Given the description of an element on the screen output the (x, y) to click on. 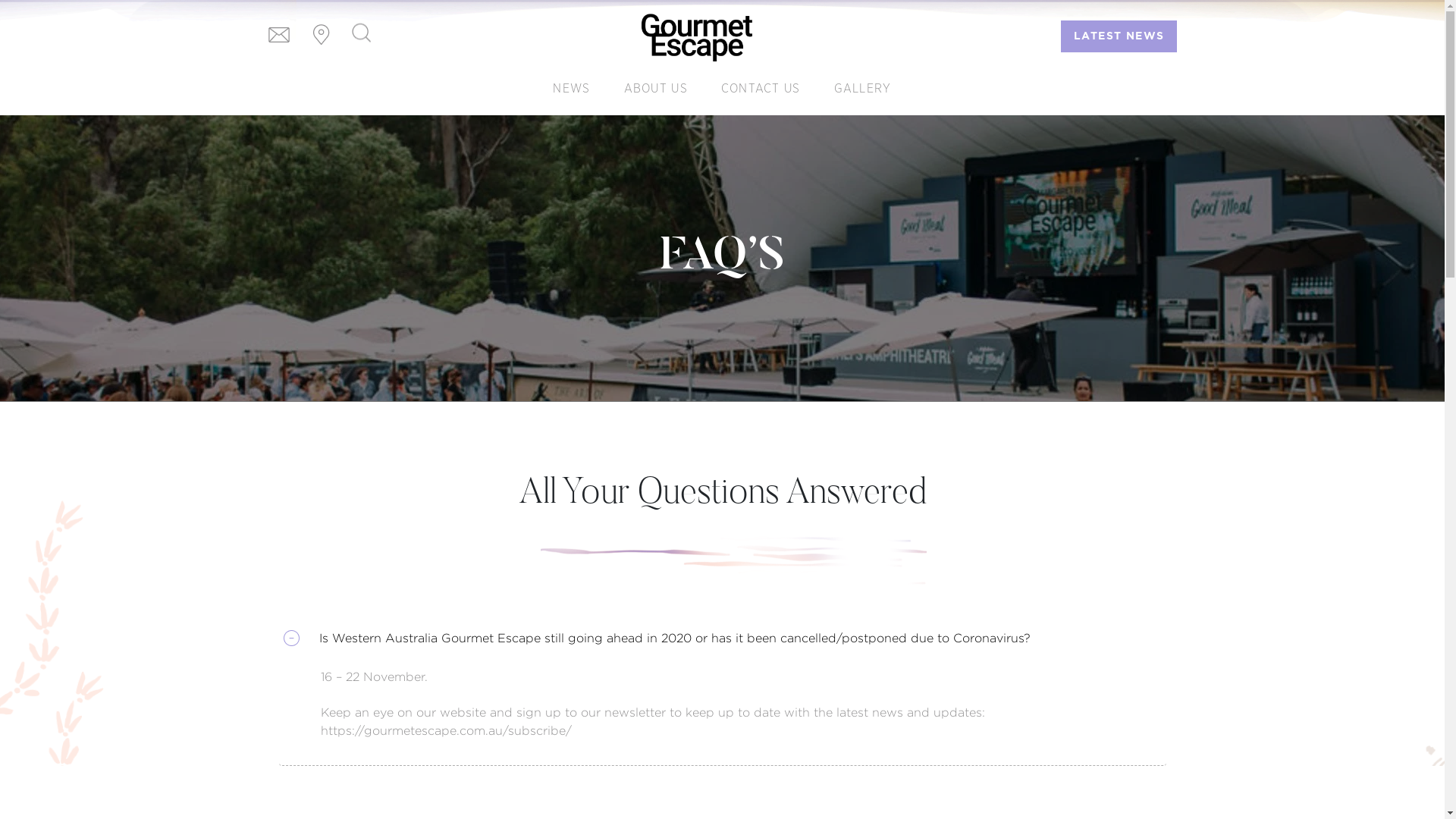
NEWS Element type: text (571, 88)
GALLERY Element type: text (862, 88)
LATEST NEWS Element type: text (1118, 36)
CONTACT US Element type: text (760, 88)
ABOUT US Element type: text (655, 88)
